Given the description of an element on the screen output the (x, y) to click on. 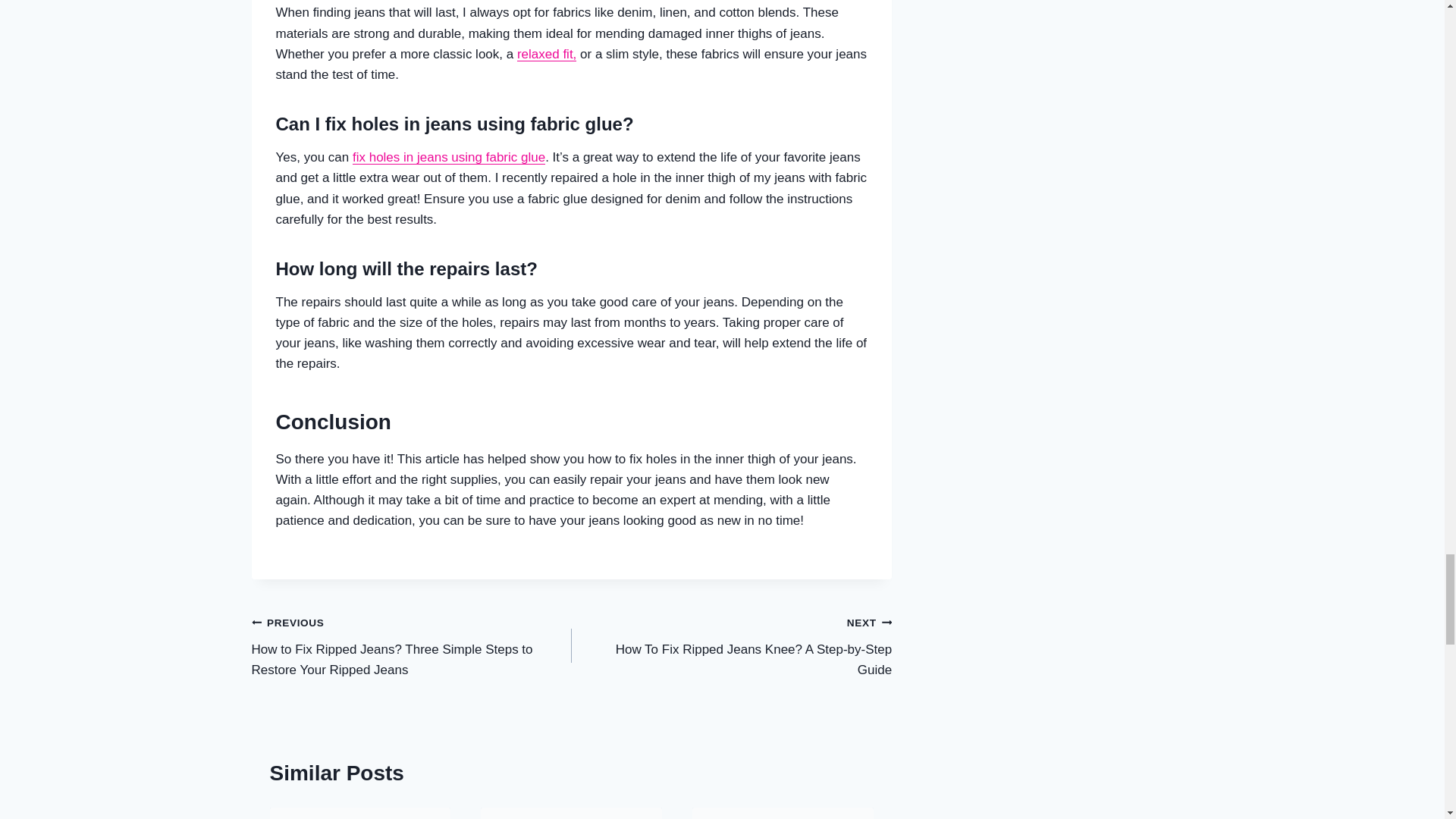
relaxed fit, (731, 645)
fix holes in jeans using fabric glue (546, 53)
